Given the description of an element on the screen output the (x, y) to click on. 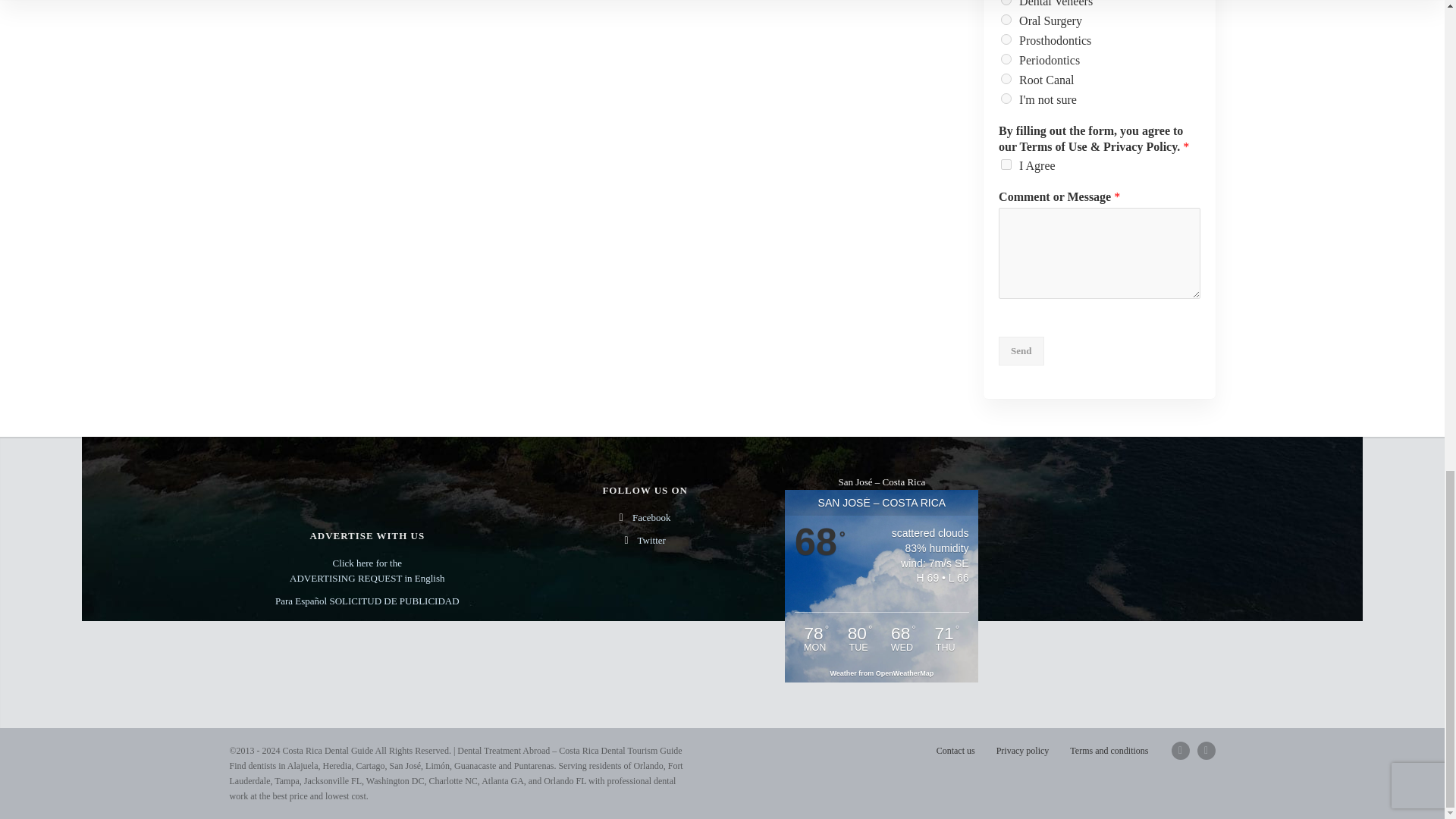
Dental Veneers (1006, 2)
Prosthodontics (1006, 39)
Periodontics (1006, 59)
Oral Surgery (1006, 19)
